Given the description of an element on the screen output the (x, y) to click on. 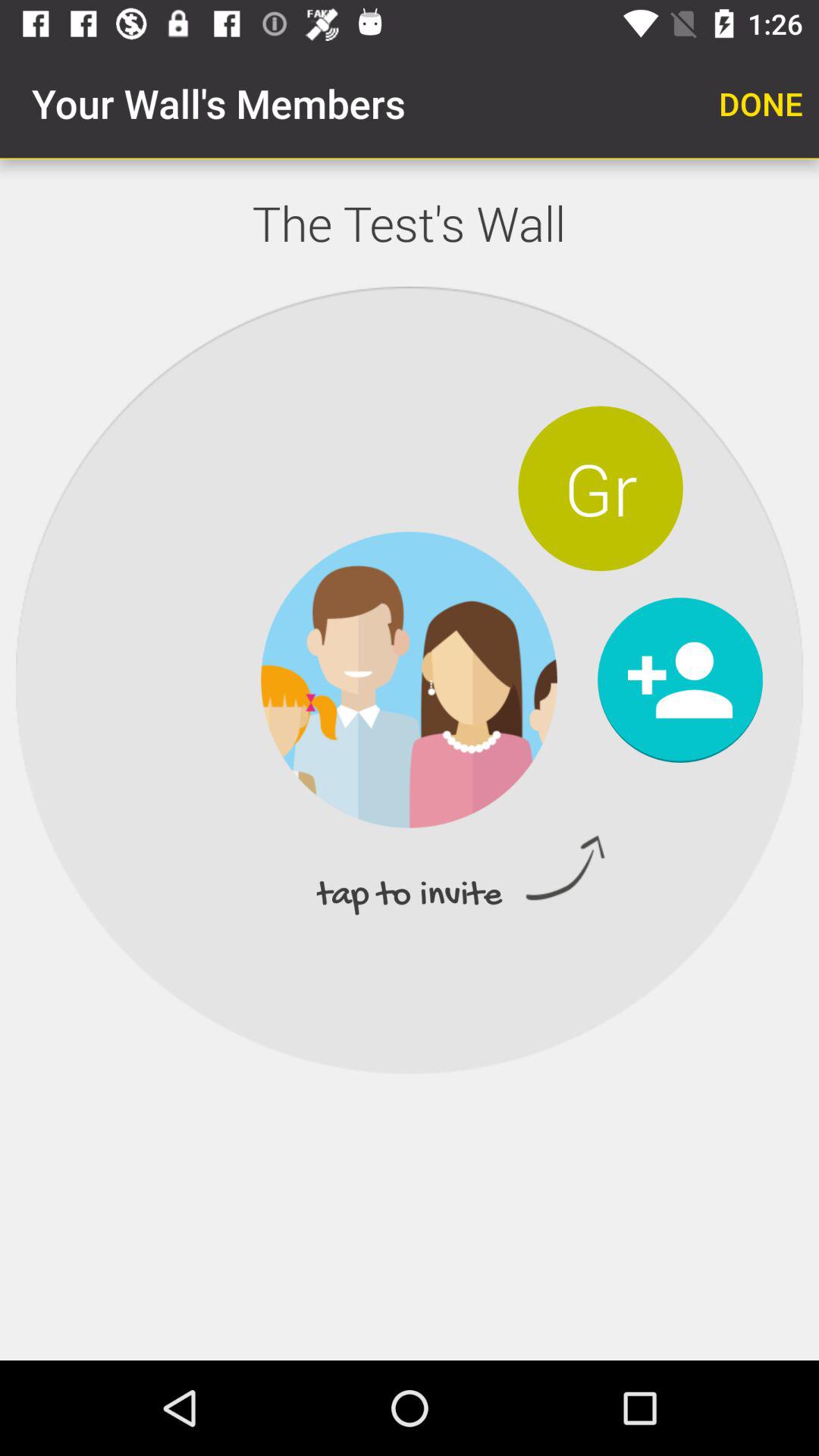
select app next to your wall s item (760, 103)
